Given the description of an element on the screen output the (x, y) to click on. 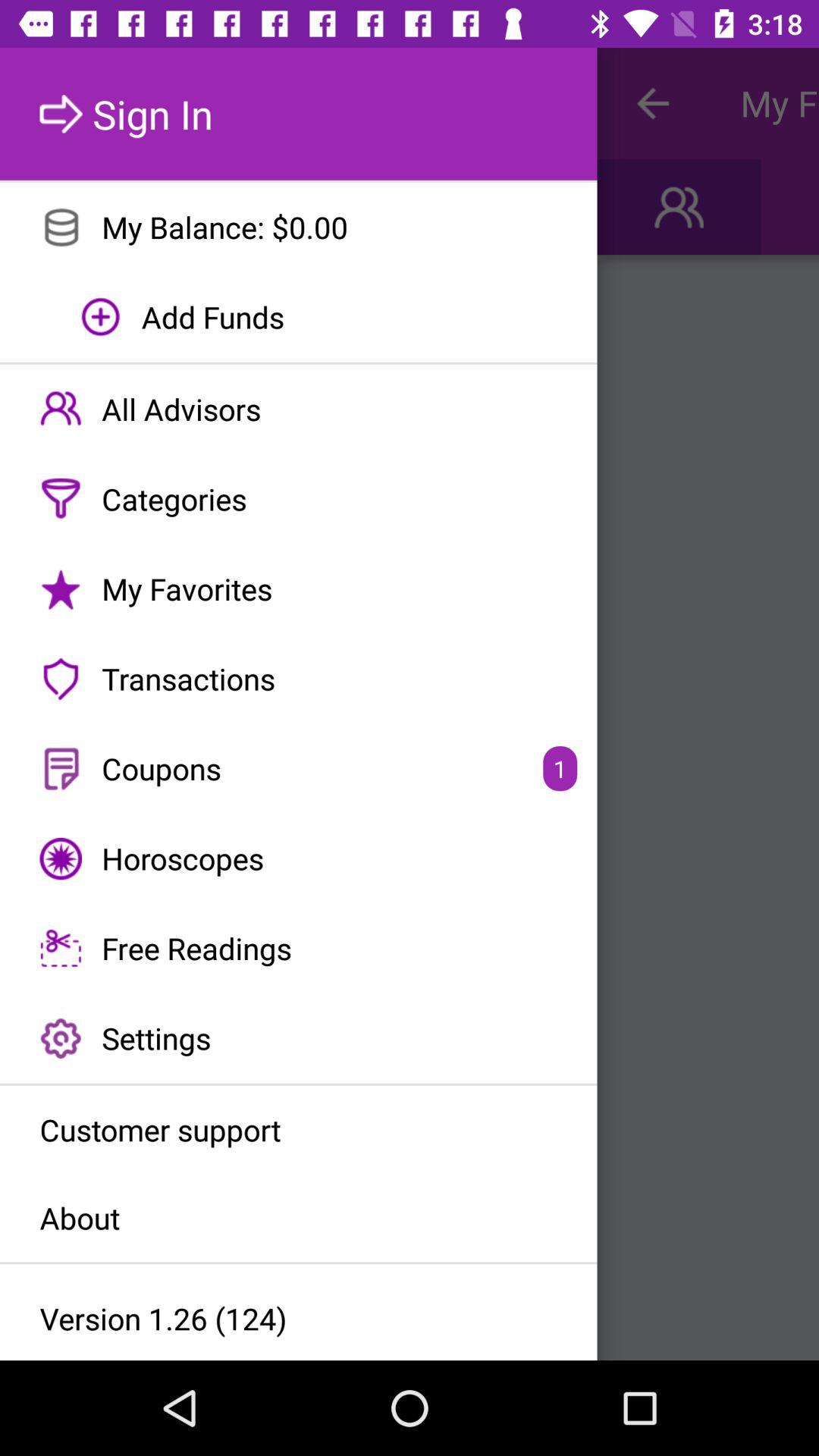
open the icon next to sign in icon (652, 103)
